Given the description of an element on the screen output the (x, y) to click on. 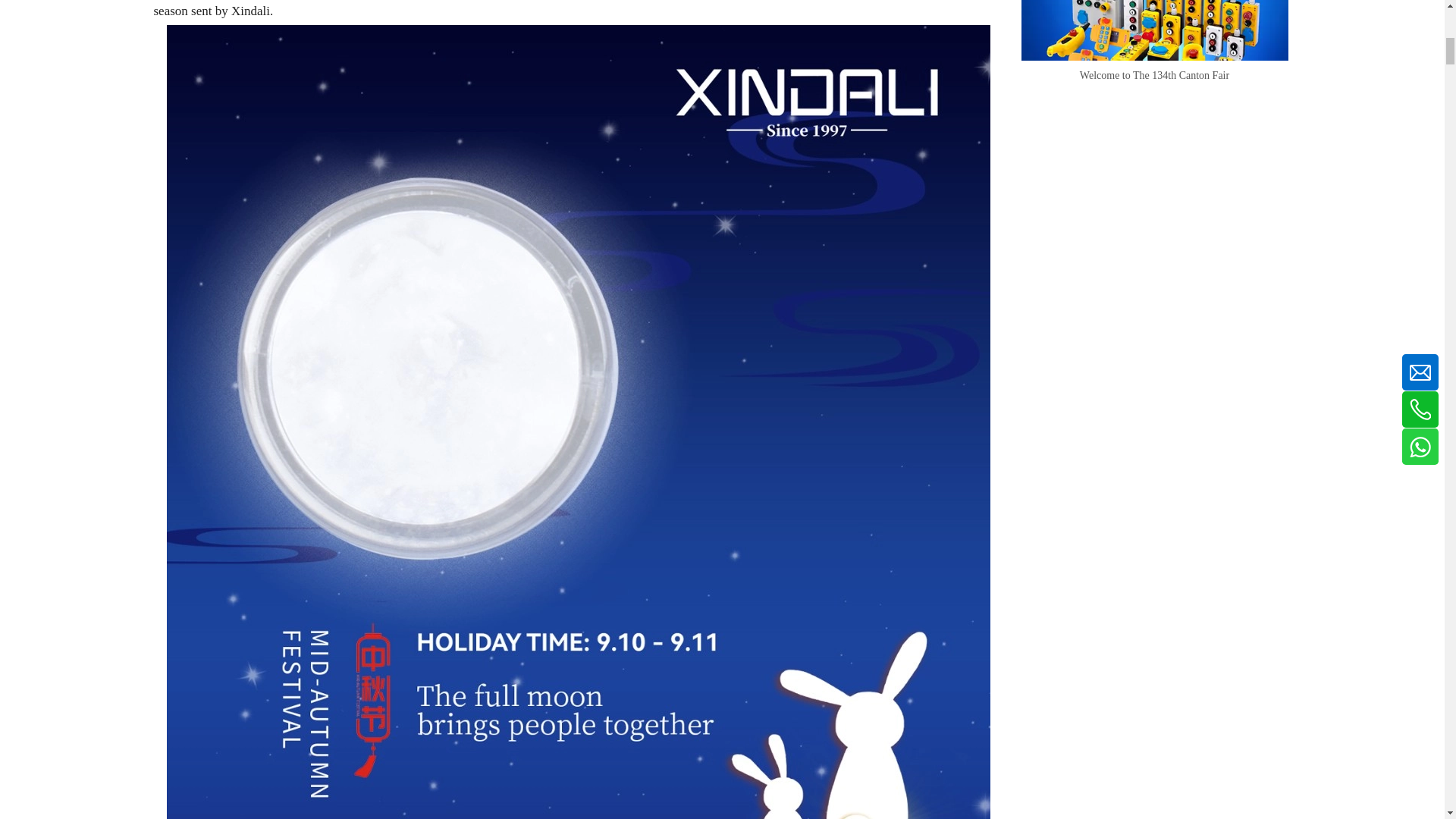
Welcome to The 134th Canton Fair (1153, 30)
Welcome to The 134th Canton Fair (1153, 75)
